Given the description of an element on the screen output the (x, y) to click on. 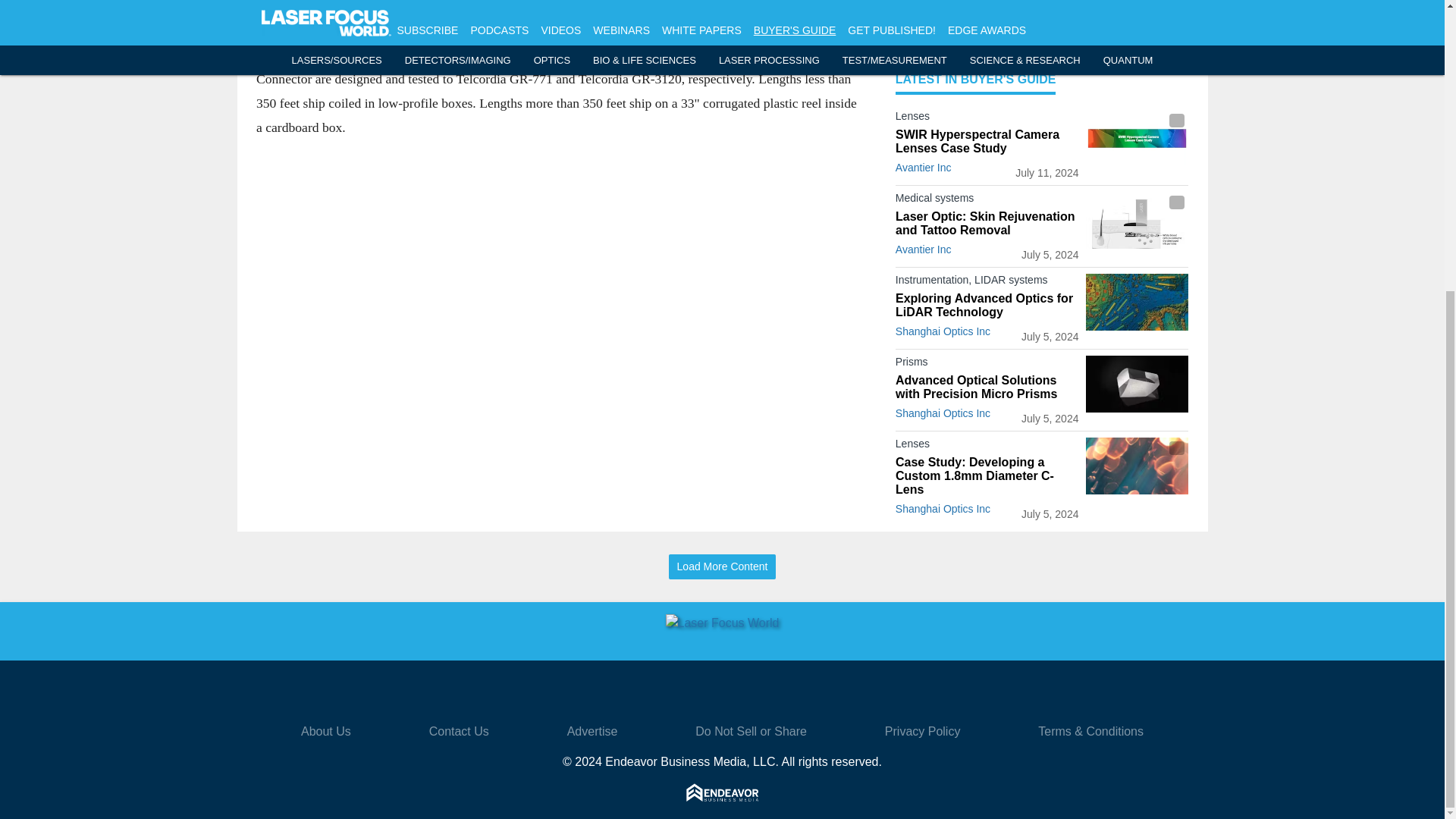
SWIR Hyperspectral Camera Lenses Case Study (986, 141)
Laser Optic: Skin Rejuvenation and Tattoo Removal (986, 223)
Advanced Optical Solutions with Precision Micro Prisms (986, 387)
Avantier Inc (923, 167)
Micro Prism  (1137, 383)
LiDAR mapping (1137, 301)
Exploring Advanced Optics for LiDAR Technology (986, 305)
Lenses (986, 118)
Developing a Custom 1.8mm Diameter C-Lens (1137, 465)
Avantier Inc (923, 249)
SWIR Hyperspectral Camera Lenses (1137, 138)
Instrumentation, LIDAR systems (986, 282)
Medical systems (986, 200)
Shanghai Optics Inc (942, 331)
Prisms (986, 364)
